Given the description of an element on the screen output the (x, y) to click on. 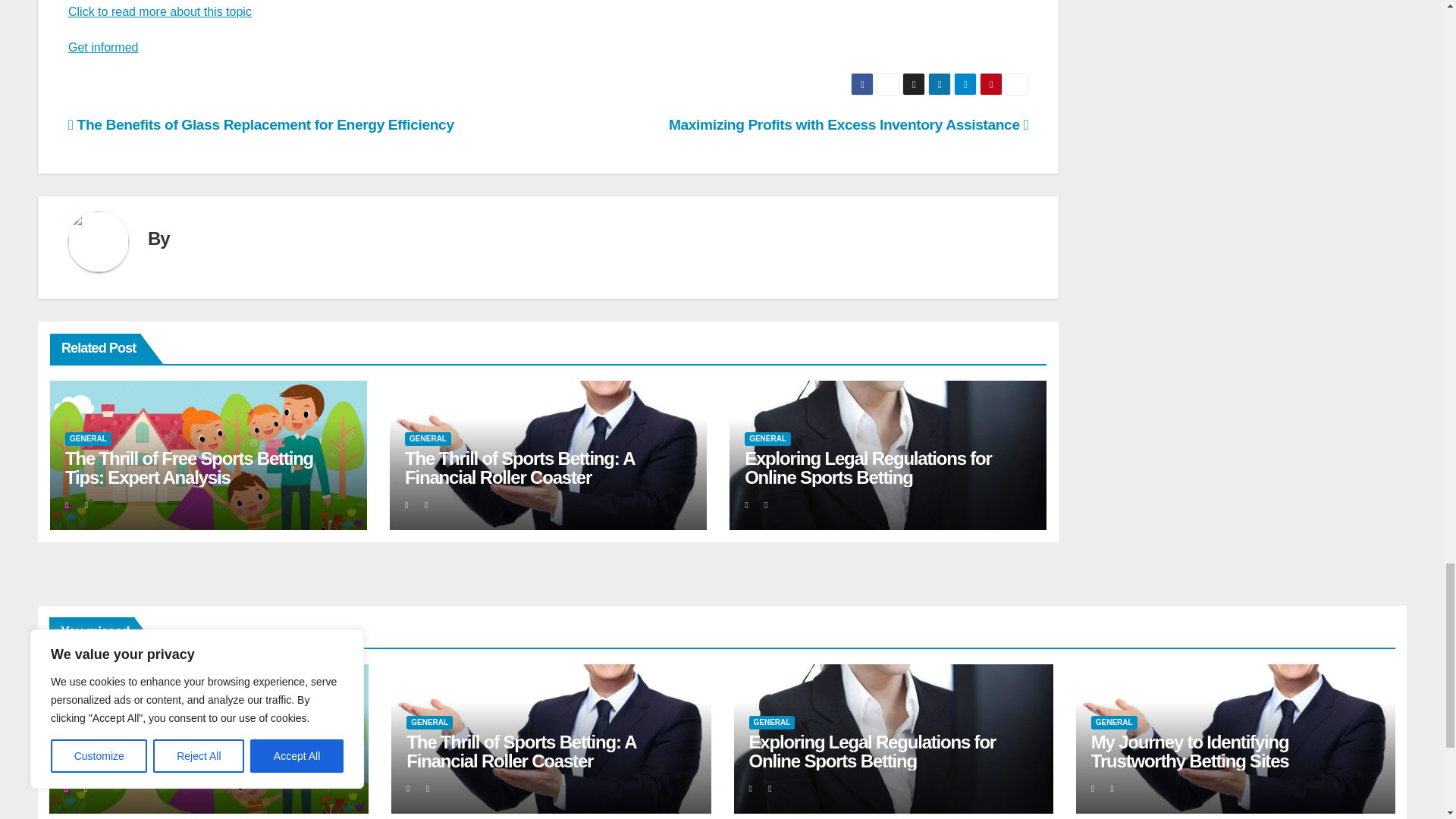
Click to read more about this topic (159, 11)
Get informed (103, 47)
